Given the description of an element on the screen output the (x, y) to click on. 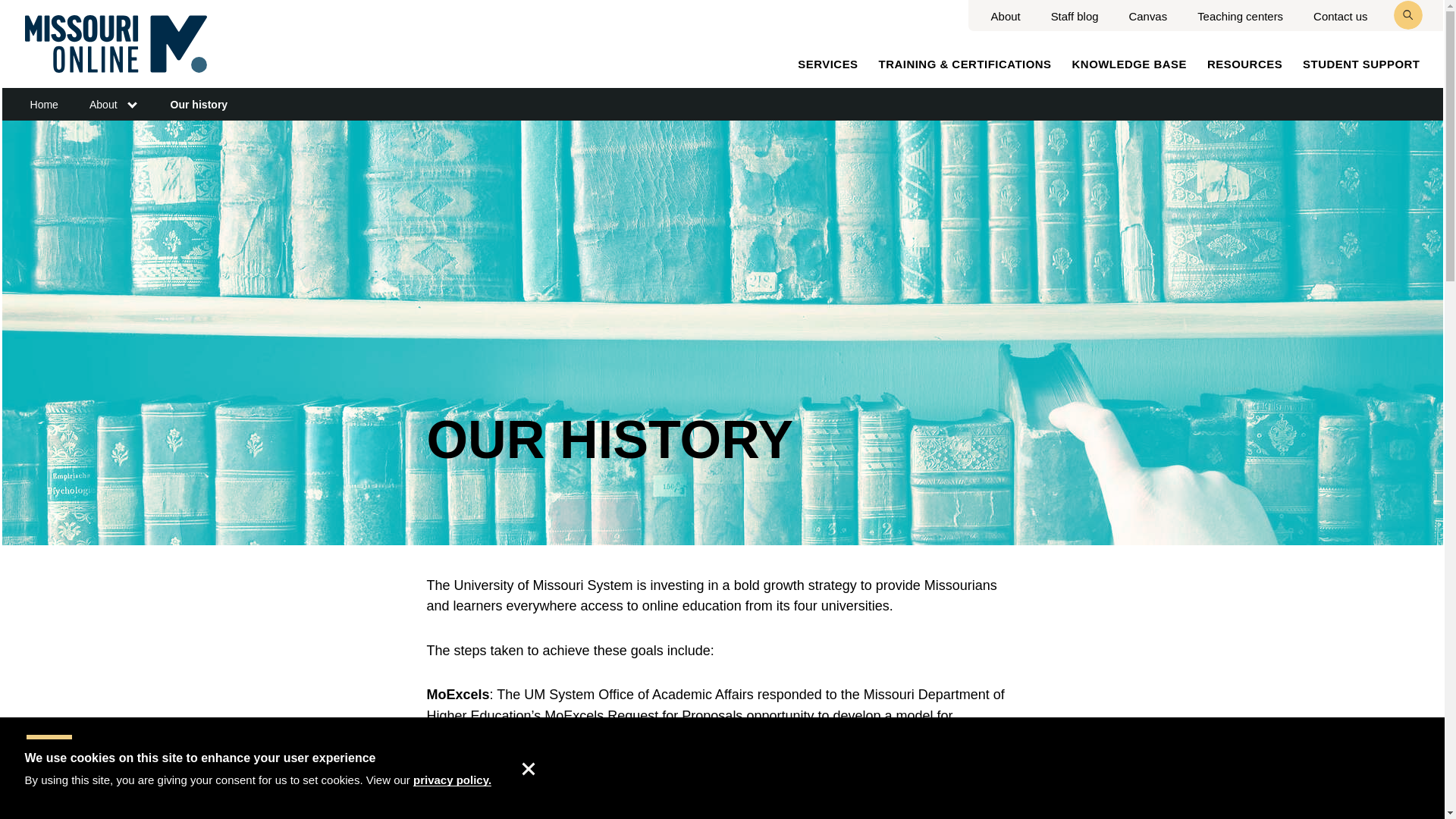
About (1005, 16)
SERVICES (827, 63)
STUDENT SUPPORT (1361, 63)
Teaching centers (1239, 16)
Canvas (1147, 16)
Contact us (1340, 16)
RESOURCES (1244, 63)
toggle search (1407, 14)
KNOWLEDGE BASE (1128, 63)
Staff blog (1075, 16)
